Given the description of an element on the screen output the (x, y) to click on. 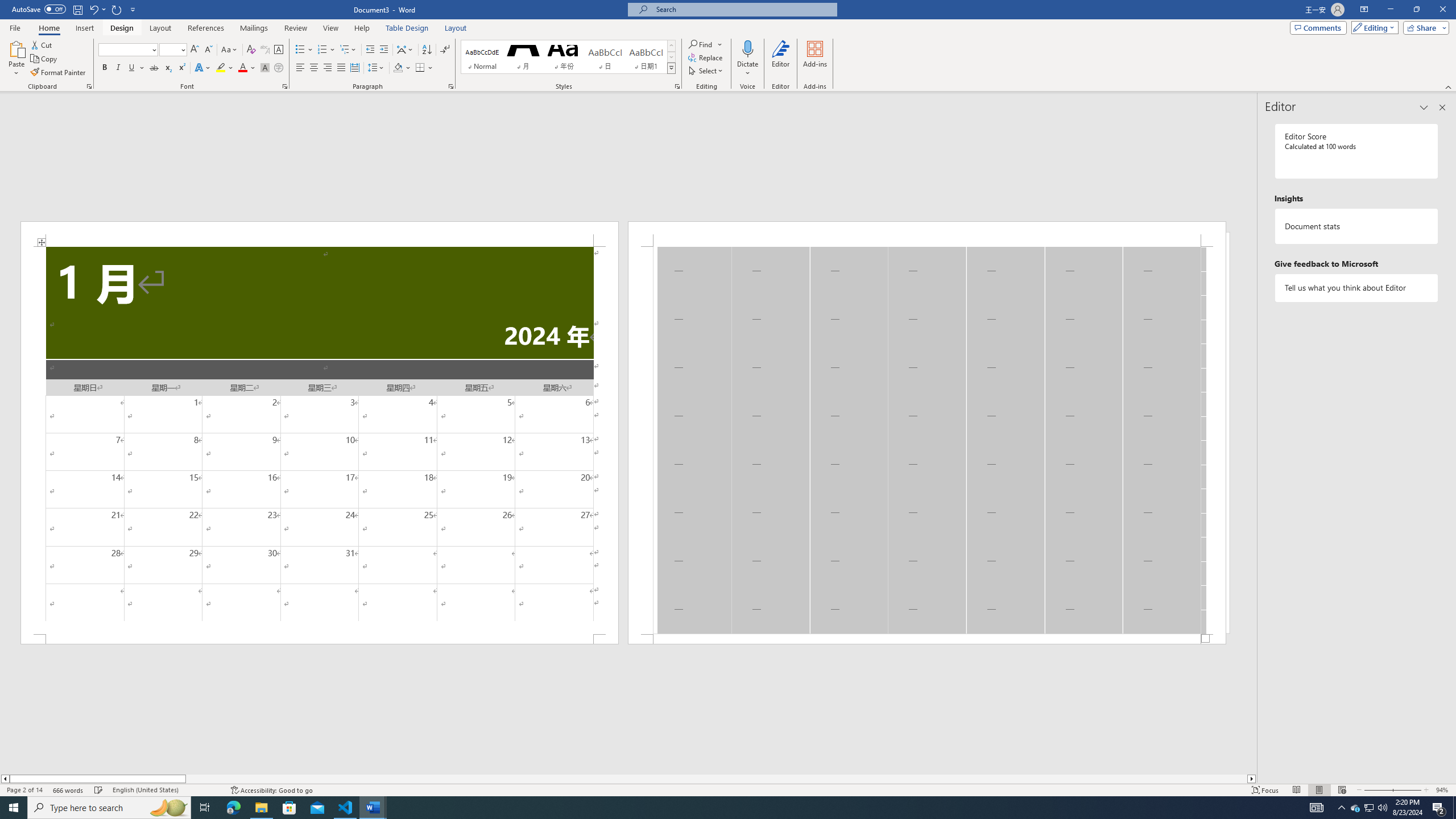
Page 2 content (926, 439)
